Given the description of an element on the screen output the (x, y) to click on. 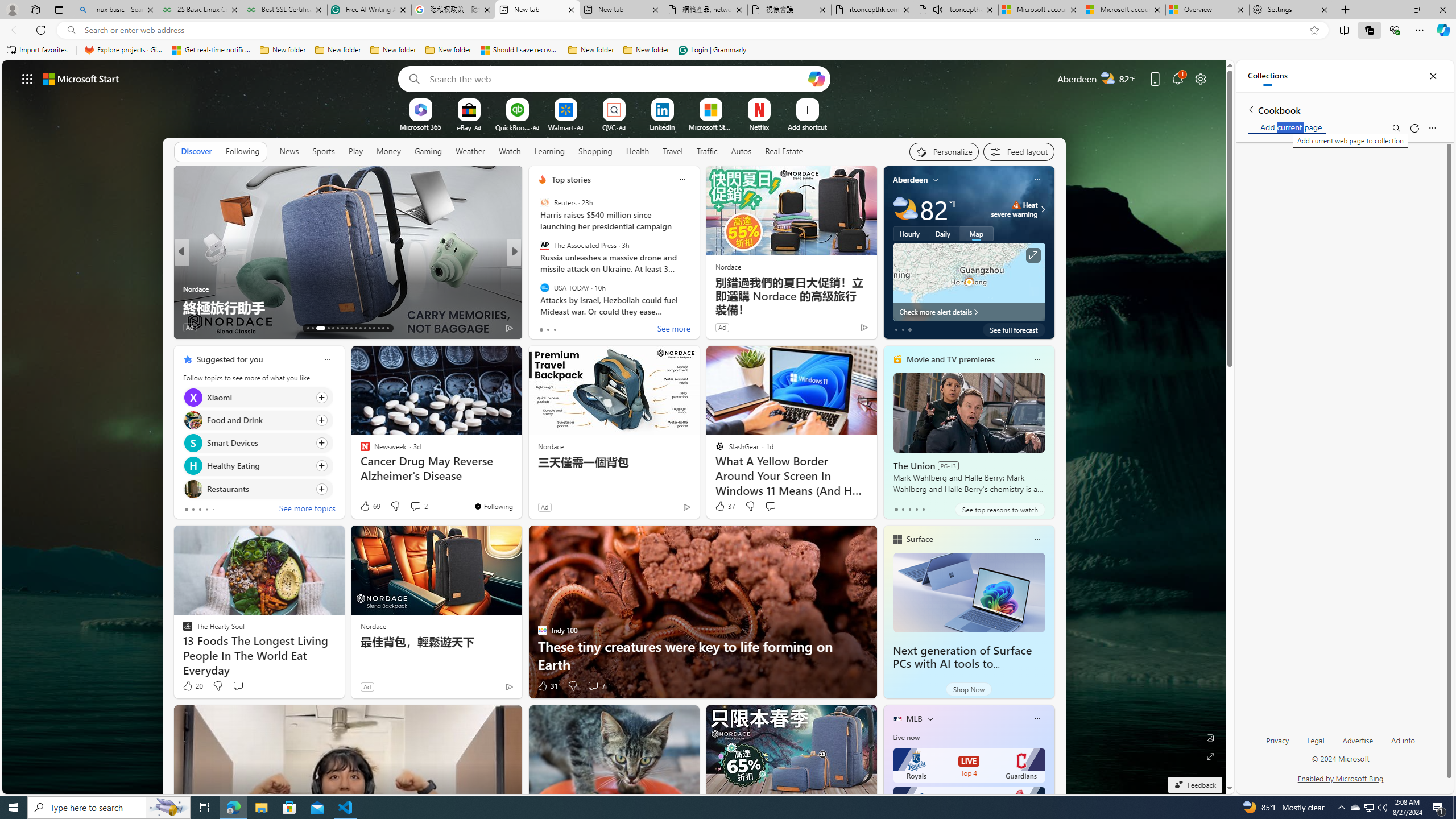
Click to see more information (1033, 255)
App launcher (27, 78)
AutomationID: tab-17 (332, 328)
Morning Carpool (537, 288)
Rarest.org (187, 288)
AutomationID: tab-25 (368, 328)
13 Gas Brands That Are a Waste of Money (697, 307)
View comments 67 Comment (597, 327)
